Given the description of an element on the screen output the (x, y) to click on. 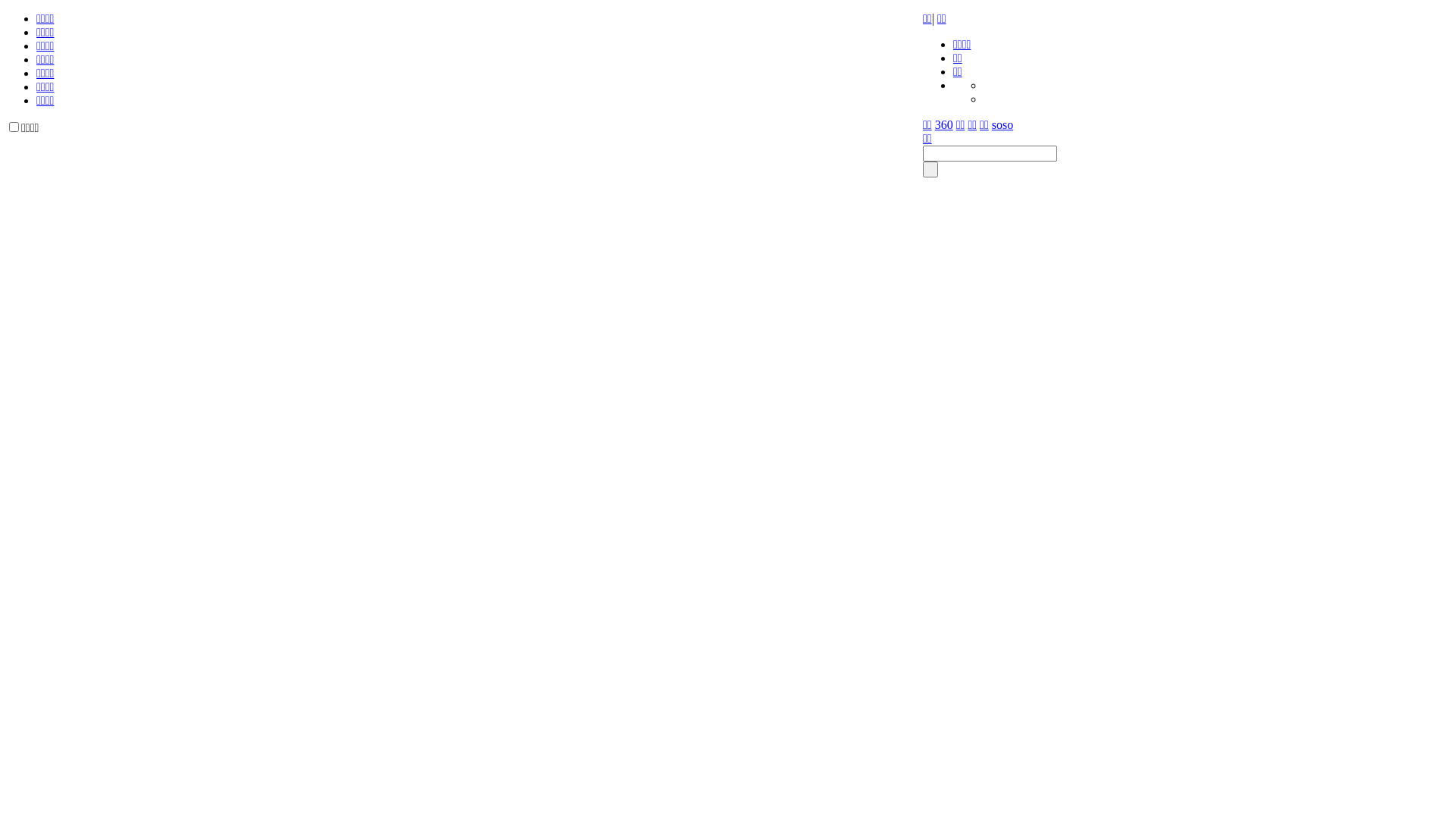
  Element type: text (930, 169)
360 Element type: text (944, 124)
soso Element type: text (1002, 124)
